Given the description of an element on the screen output the (x, y) to click on. 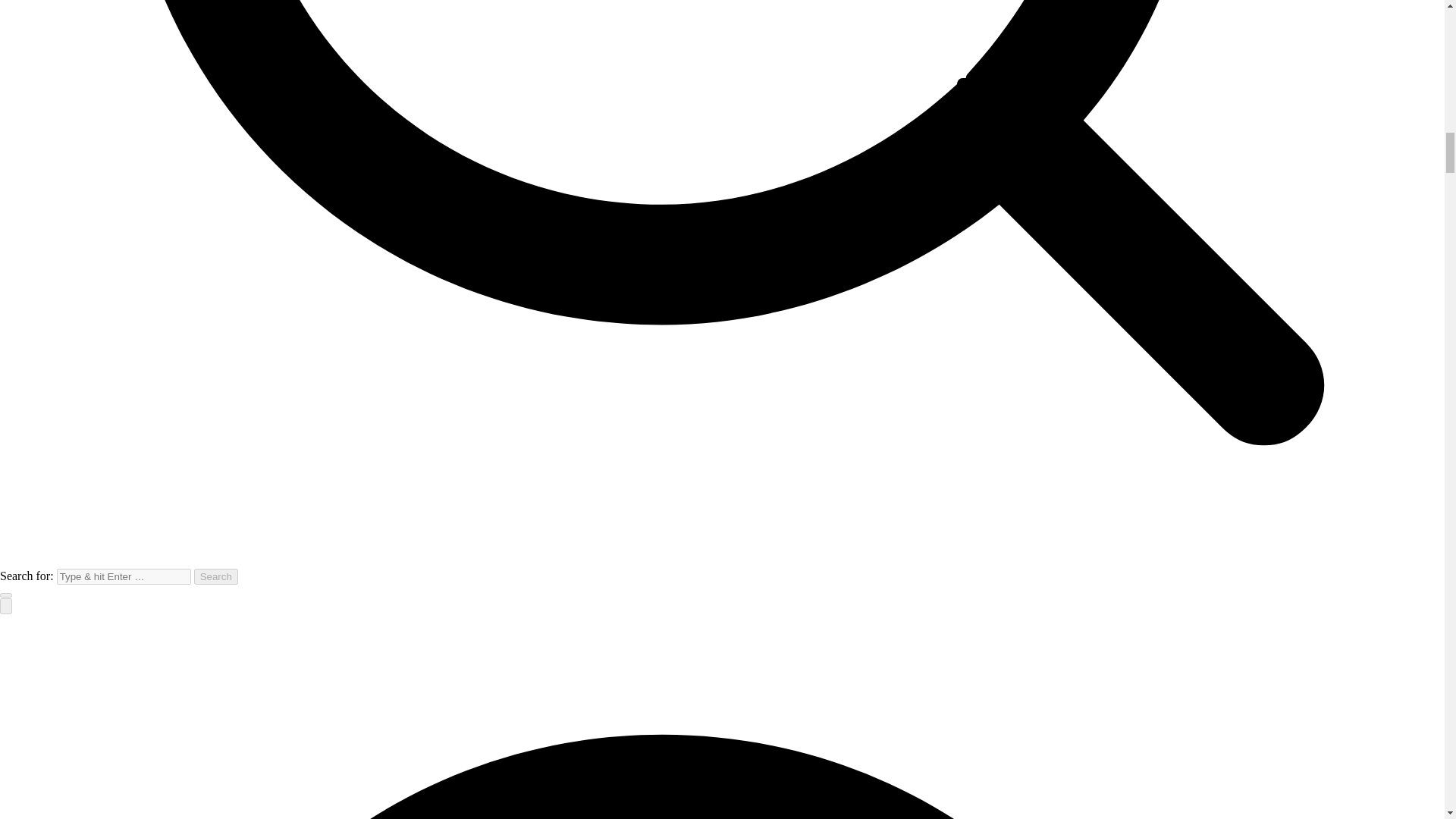
Search (215, 576)
Search (215, 576)
Search (215, 576)
Search for: (123, 576)
